Given the description of an element on the screen output the (x, y) to click on. 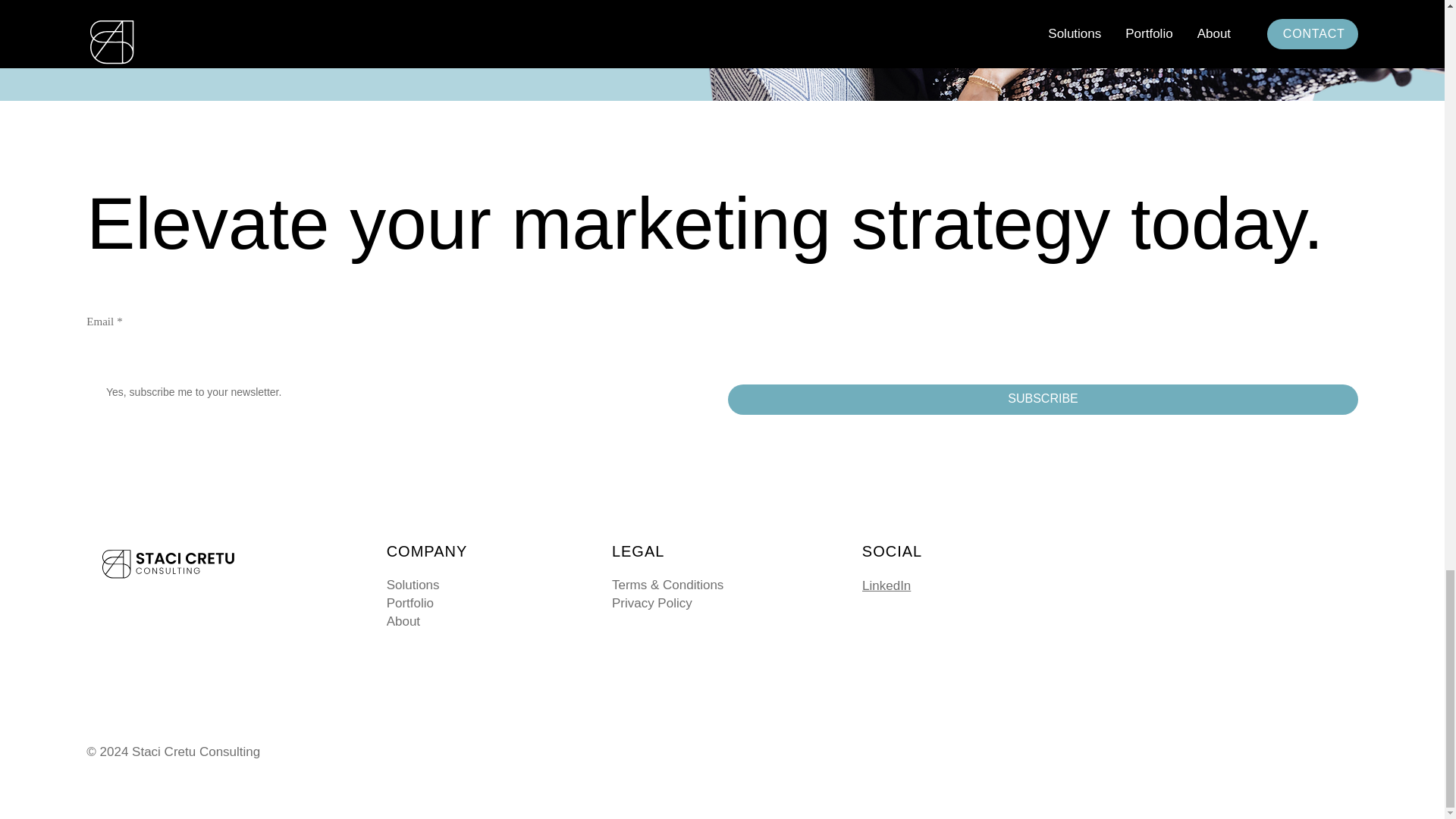
LinkedIn (886, 585)
Portfolio (486, 603)
SUBSCRIBE (1042, 399)
About (486, 621)
Privacy Policy (652, 603)
Solutions (486, 585)
